Given the description of an element on the screen output the (x, y) to click on. 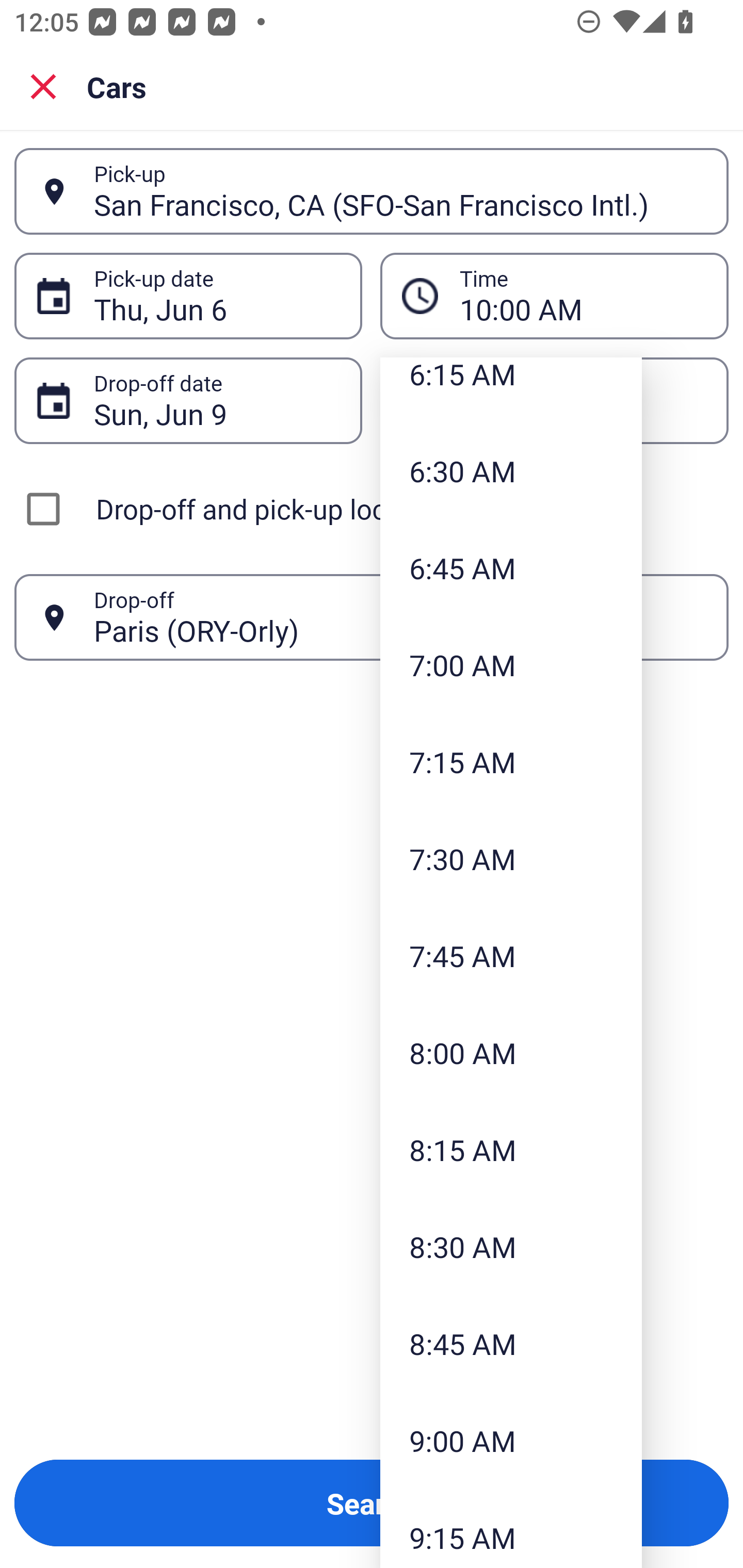
6:15 AM (510, 389)
6:30 AM (510, 470)
6:45 AM (510, 567)
7:00 AM (510, 664)
7:15 AM (510, 761)
7:30 AM (510, 858)
7:45 AM (510, 955)
8:00 AM (510, 1051)
8:15 AM (510, 1148)
8:30 AM (510, 1246)
8:45 AM (510, 1343)
9:00 AM (510, 1440)
9:15 AM (510, 1528)
